Given the description of an element on the screen output the (x, y) to click on. 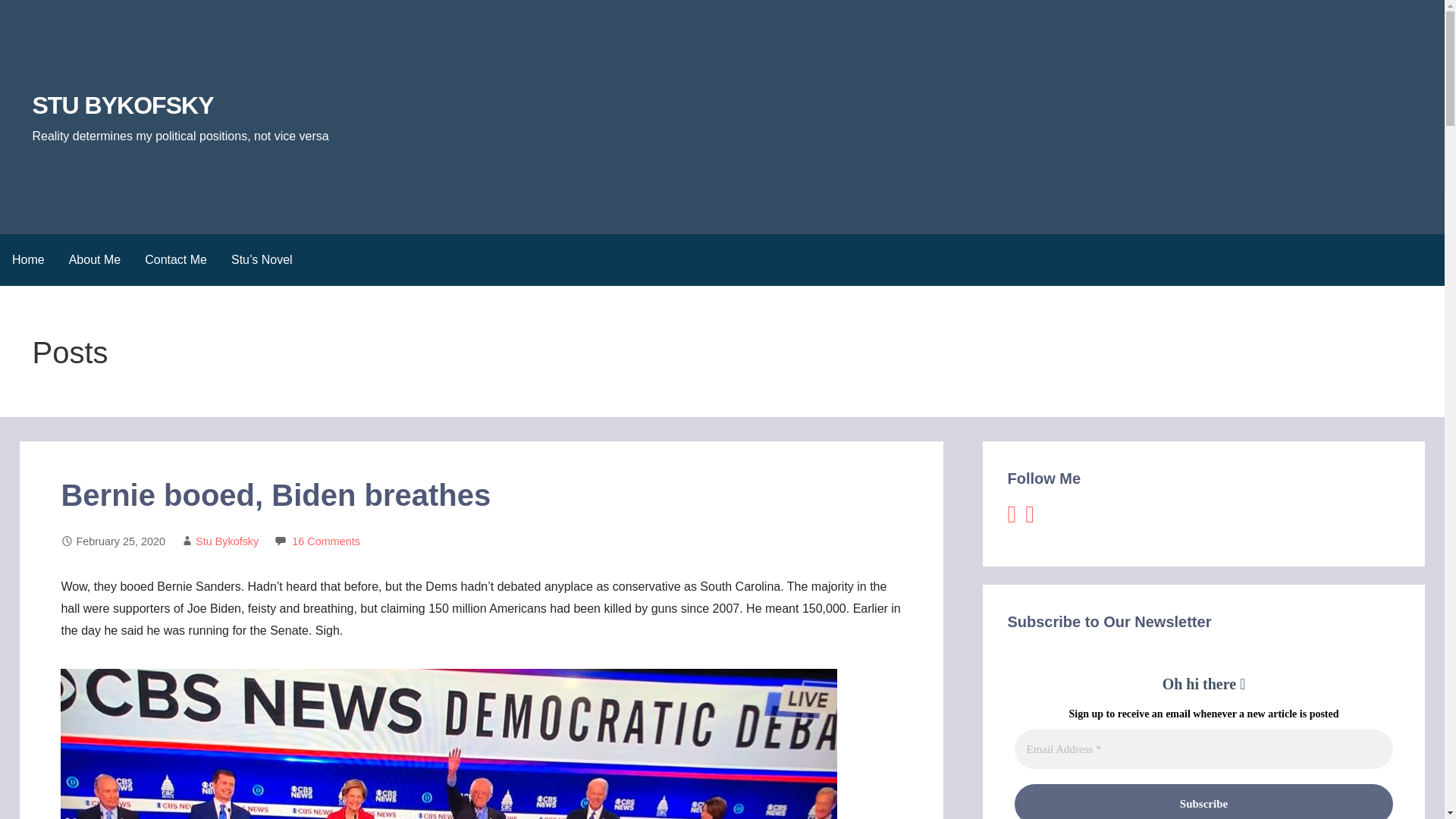
Email Address (1202, 749)
Subscribe (1202, 801)
Home (28, 259)
About Me (94, 259)
Contact Me (175, 259)
16 Comments (325, 541)
Stu Bykofsky (227, 541)
Posts by Stu Bykofsky (227, 541)
Subscribe (1202, 801)
STU BYKOFSKY (122, 104)
